Given the description of an element on the screen output the (x, y) to click on. 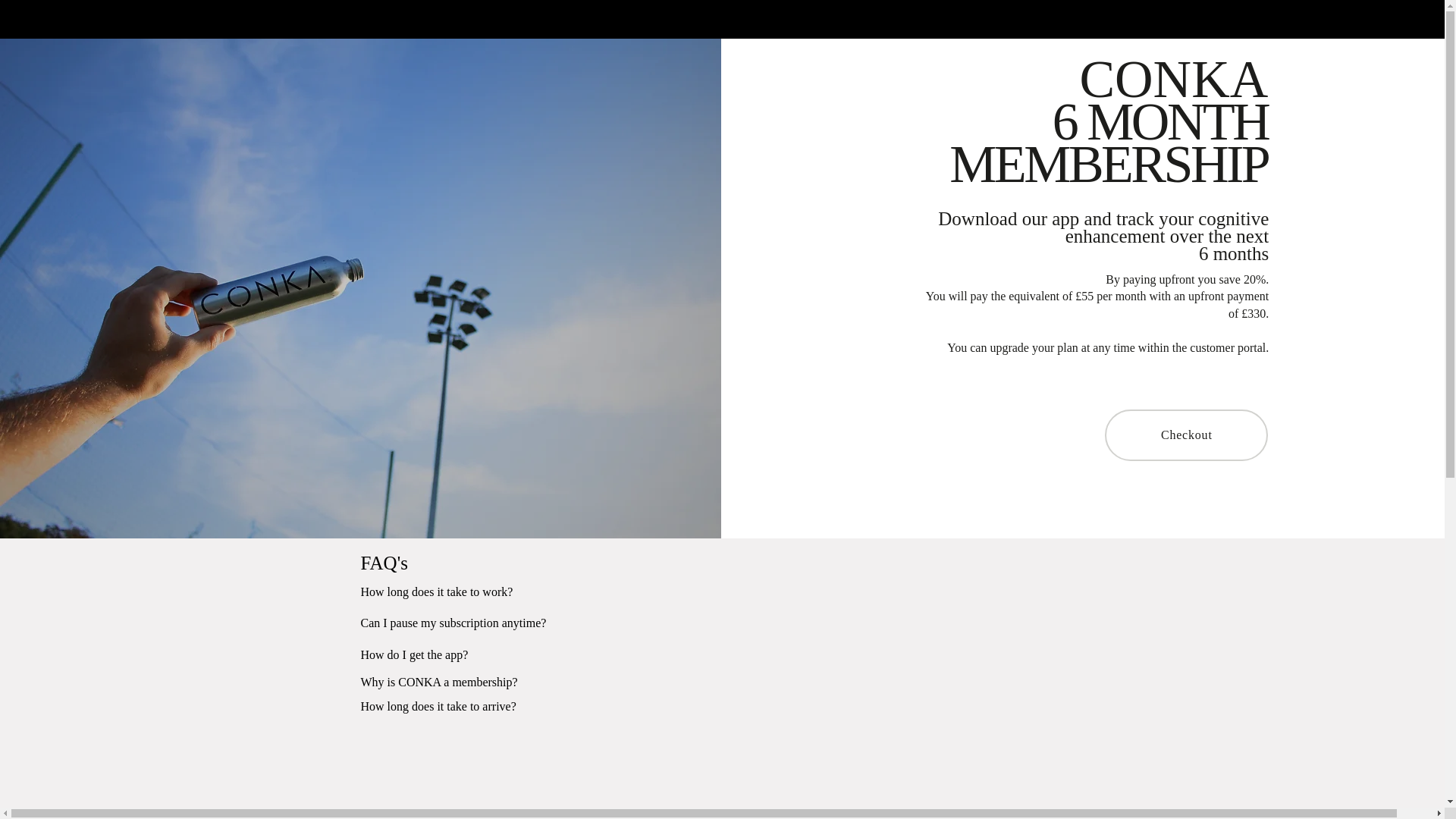
Checkout (1186, 435)
